Given the description of an element on the screen output the (x, y) to click on. 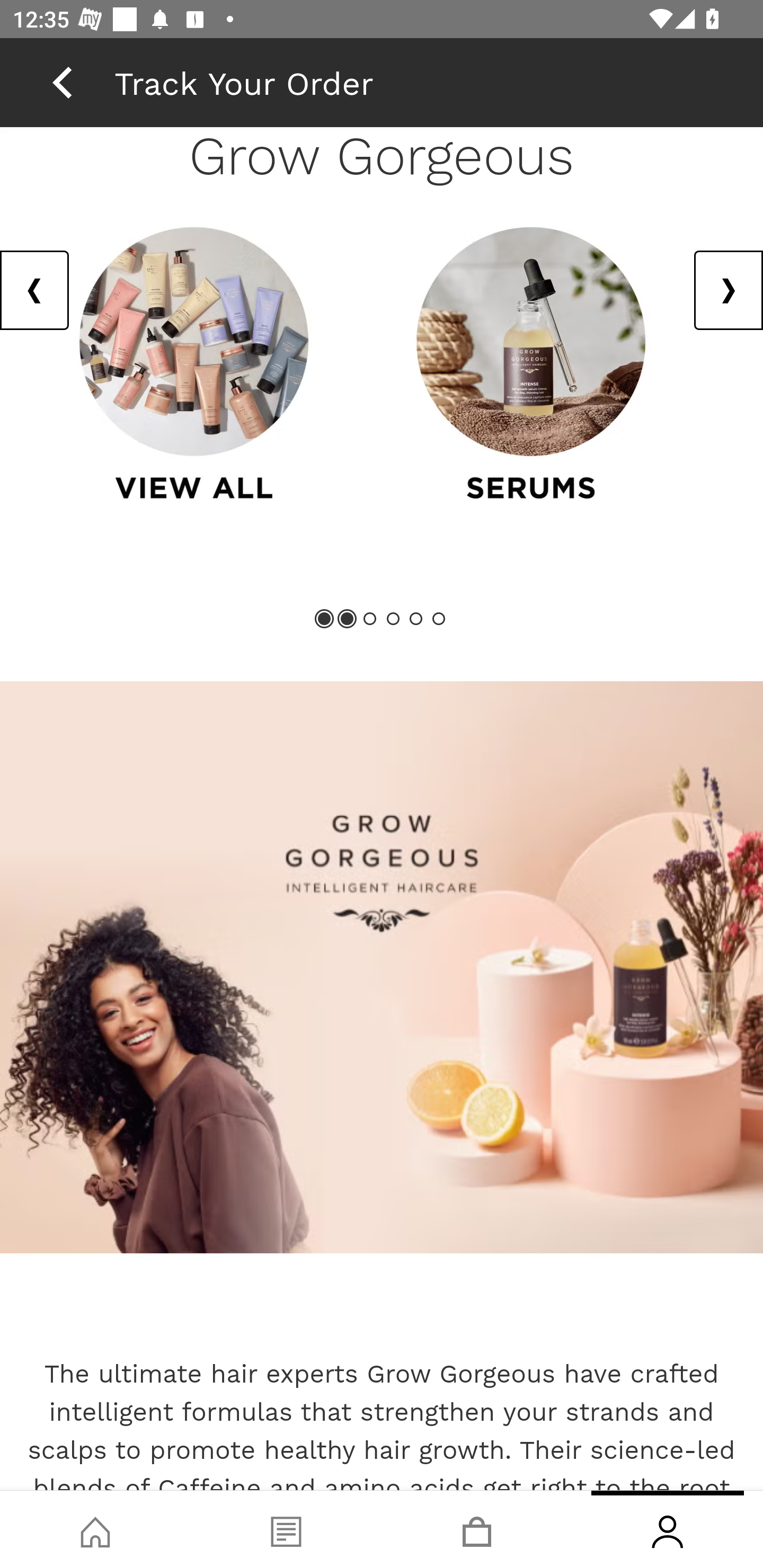
back (61, 82)
View All (193, 365)
Hair Serums (530, 365)
Previous (35, 289)
Next (727, 289)
Showing Slide 1 (Current Item) (324, 618)
Showing Slide 2 (Current Item) (347, 618)
Slide 3 (369, 618)
Slide 4 (393, 618)
Slide 5 (415, 618)
Slide 6 (437, 618)
Shop Grow Gorgeous (381, 967)
Shop, tab, 1 of 4 (95, 1529)
Blog, tab, 2 of 4 (285, 1529)
Basket, tab, 3 of 4 (476, 1529)
Account, tab, 4 of 4 (667, 1529)
